Given the description of an element on the screen output the (x, y) to click on. 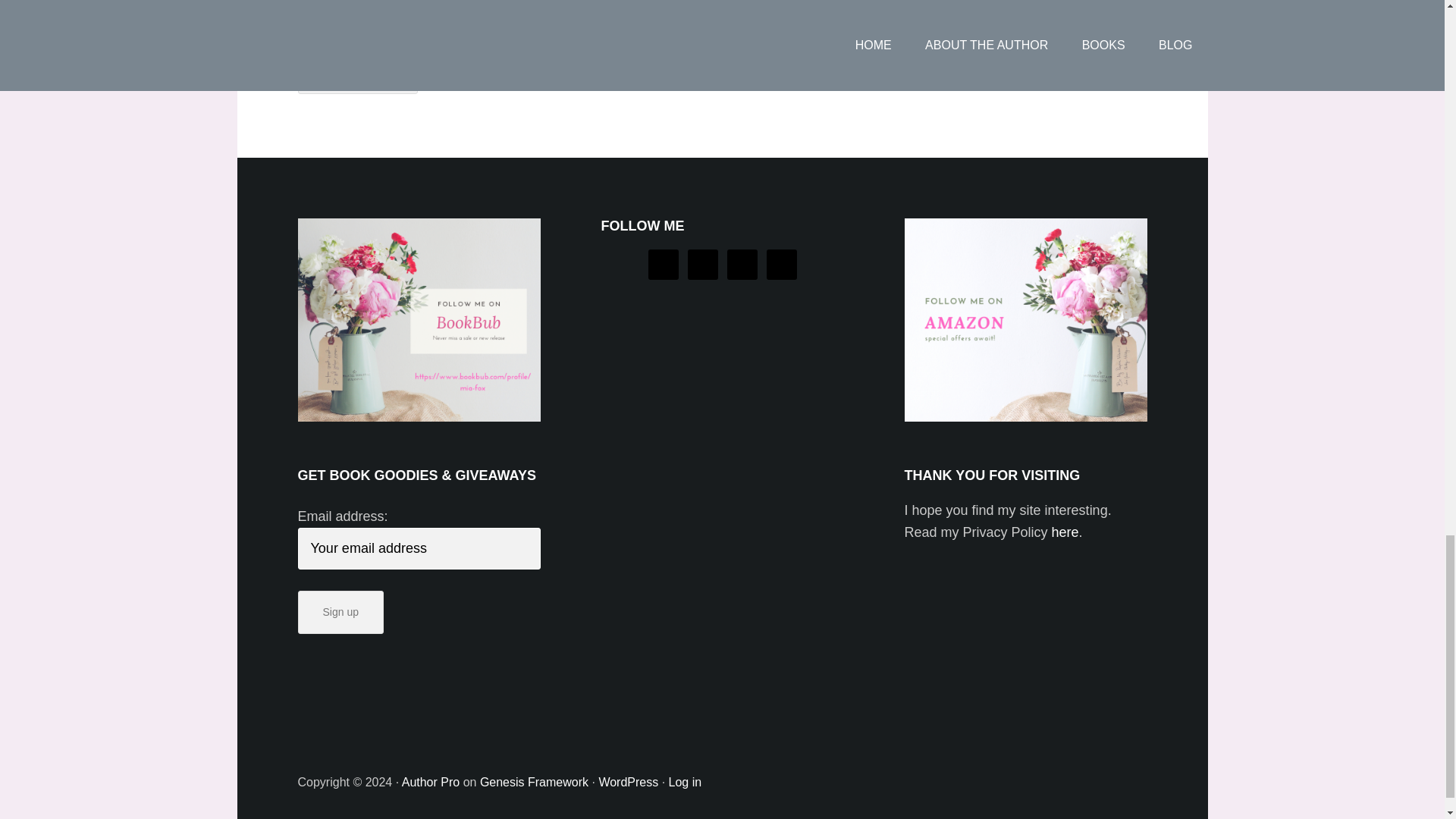
Post Comment (357, 72)
Post Comment (357, 72)
Sign up (339, 611)
Sign up (339, 611)
subscribe (302, 25)
